Given the description of an element on the screen output the (x, y) to click on. 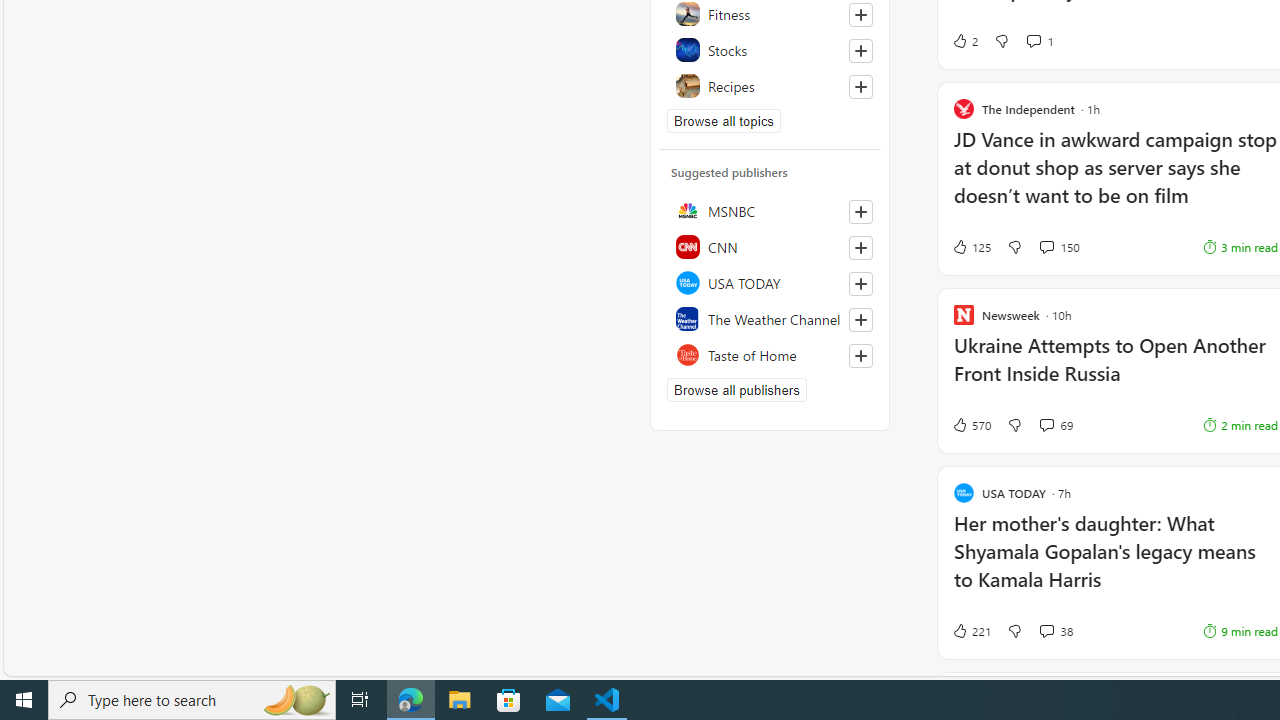
View comments 69 Comment (1055, 425)
Recipes (770, 85)
125 Like (970, 246)
Browse all topics (724, 120)
View comments 69 Comment (1046, 424)
Stocks (770, 49)
CNN (770, 246)
View comments 38 Comment (1055, 630)
Taste of Home (770, 354)
Browse all publishers (736, 389)
View comments 150 Comment (1059, 246)
USA TODAY (770, 282)
